Given the description of an element on the screen output the (x, y) to click on. 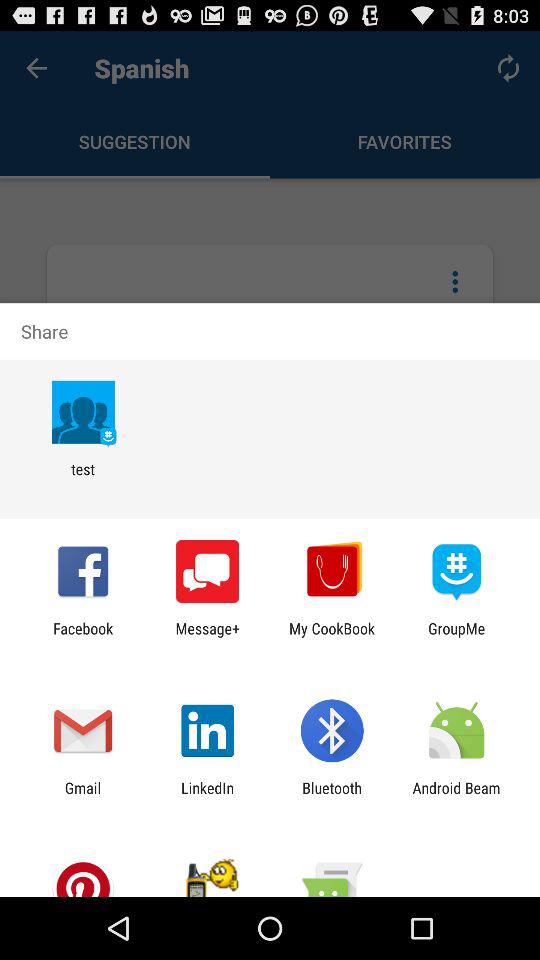
press the bluetooth icon (331, 796)
